Given the description of an element on the screen output the (x, y) to click on. 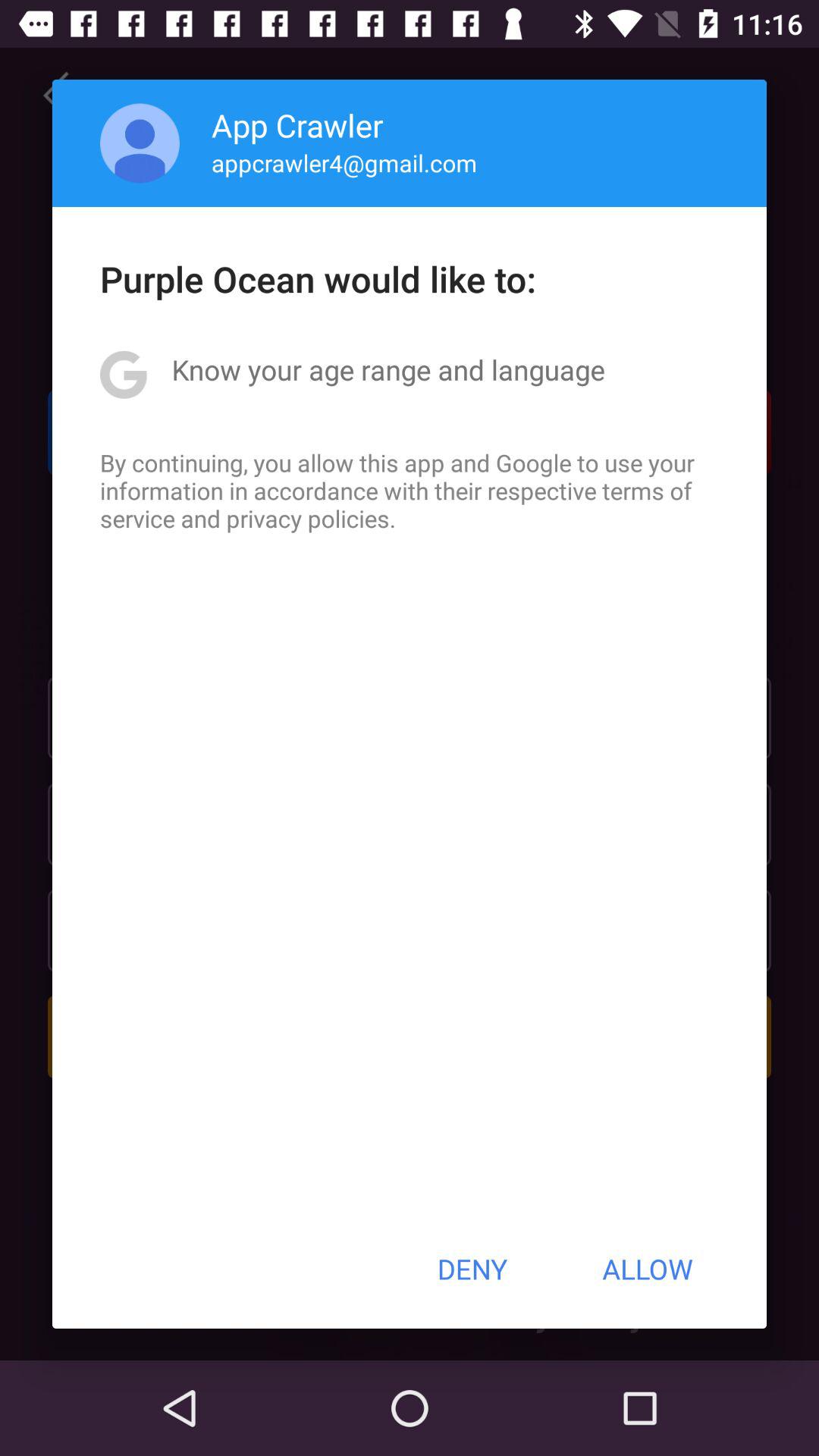
turn off item below the by continuing you (471, 1268)
